Given the description of an element on the screen output the (x, y) to click on. 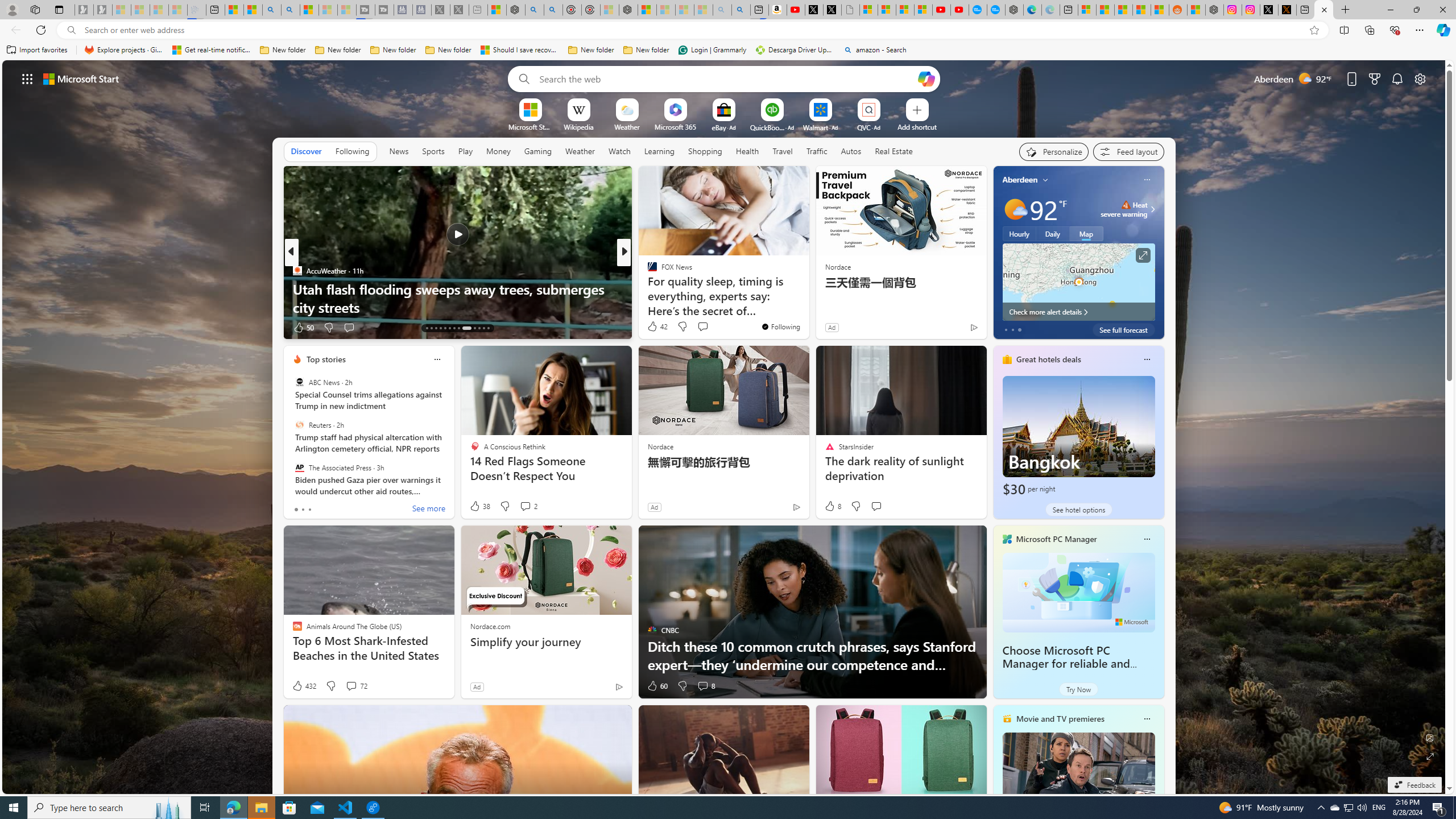
Log in to X / X (1268, 9)
15 Behaviors You MUST Avoid If You Want to Earn Respect (807, 298)
AutomationID: tab-17 (444, 328)
View comments 2 Comment (528, 505)
View comments 2 Comment (525, 505)
38 Like (479, 505)
AutomationID: tab-14 (431, 328)
Class: weather-arrow-glyph (1152, 208)
